Given the description of an element on the screen output the (x, y) to click on. 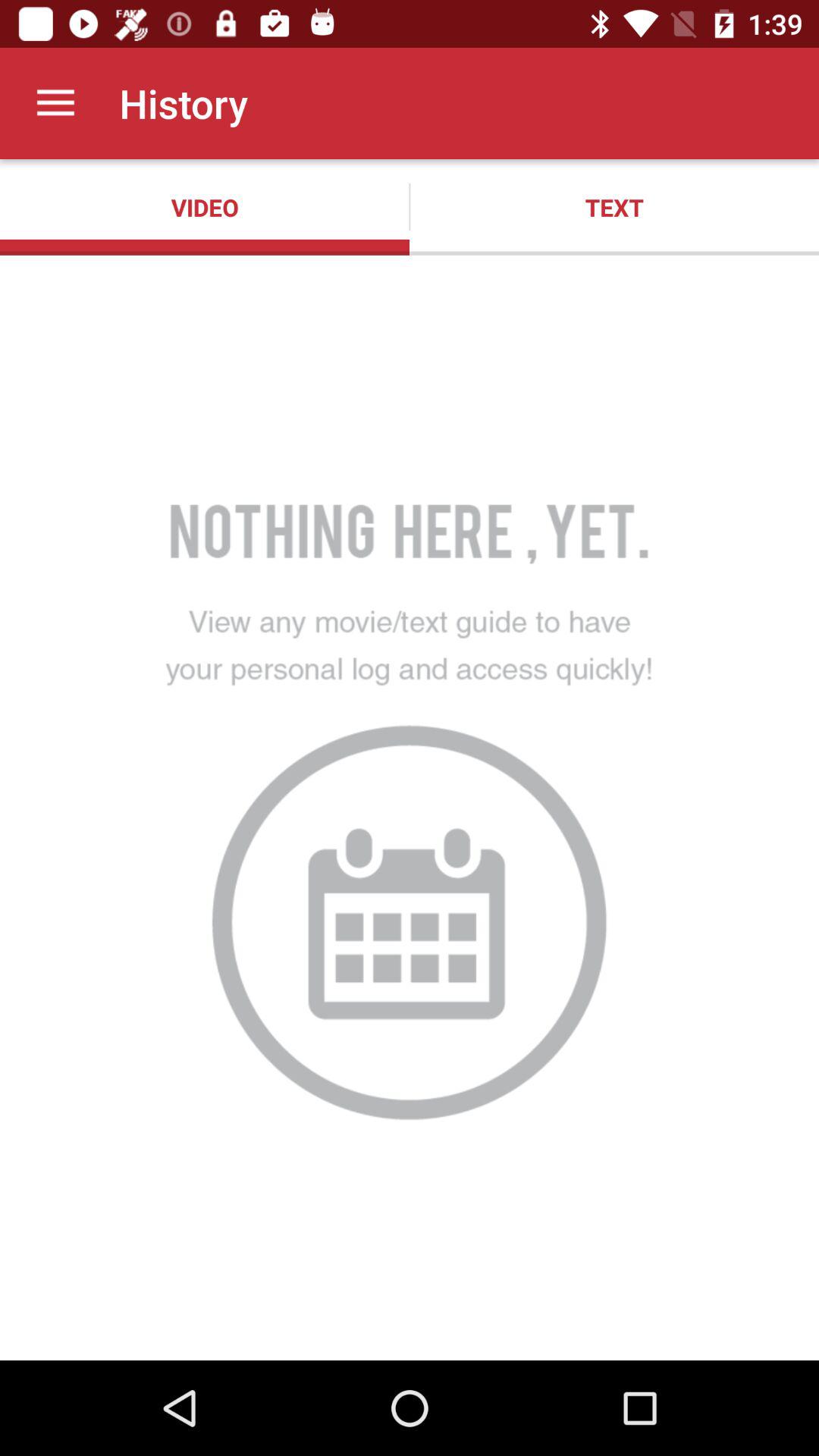
tap the app to the left of text item (204, 207)
